Given the description of an element on the screen output the (x, y) to click on. 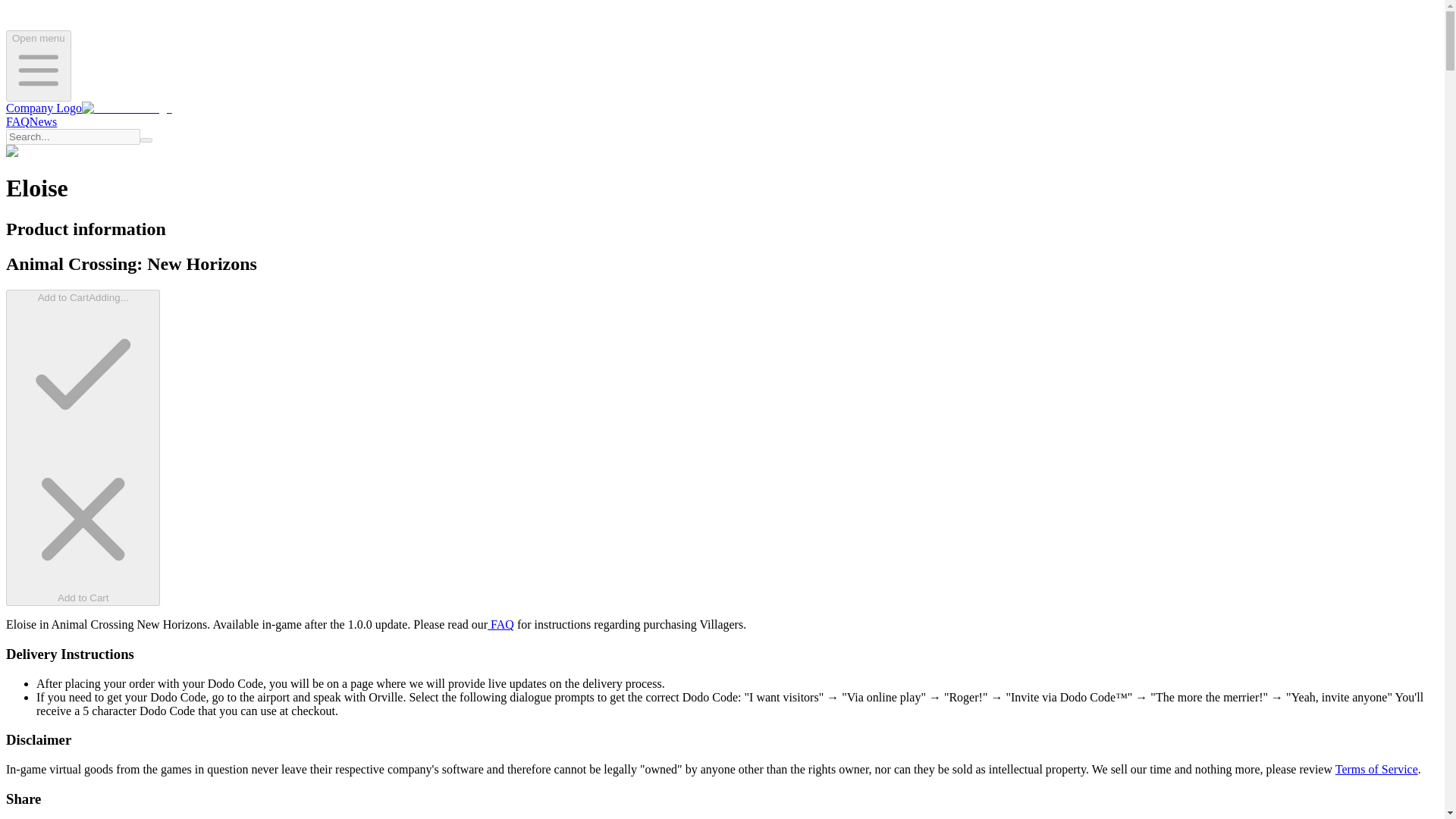
Open menu (38, 65)
FAQ (500, 624)
FAQ (17, 121)
News (42, 121)
Company Logo (88, 107)
Terms of Service (1376, 768)
